Given the description of an element on the screen output the (x, y) to click on. 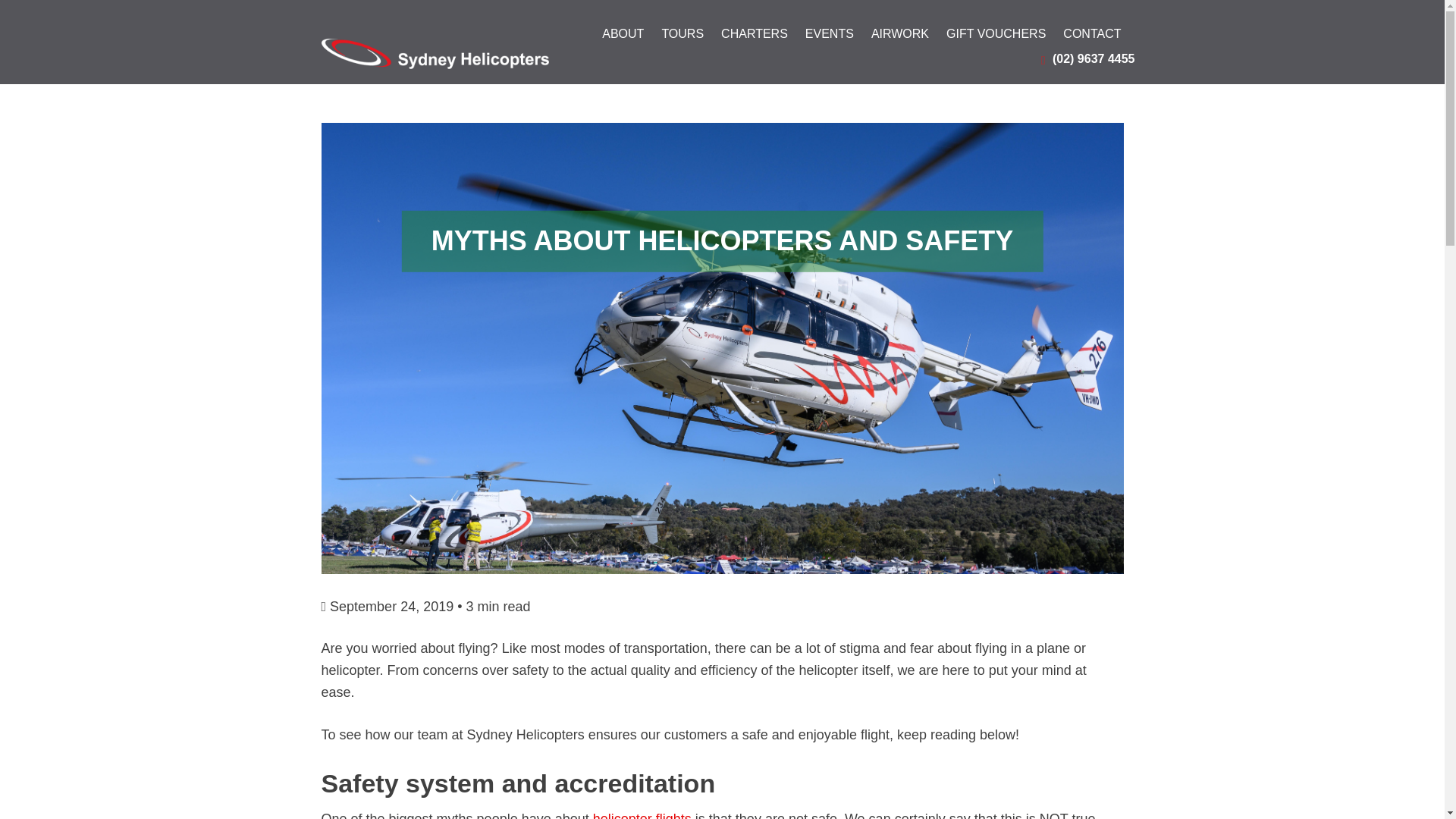
CONTACT (1091, 37)
GIFT VOUCHERS (995, 37)
ABOUT (622, 37)
AIRWORK (899, 37)
helicopter flights (641, 815)
EVENTS (829, 37)
CHARTERS (753, 37)
TOURS (682, 37)
